Given the description of an element on the screen output the (x, y) to click on. 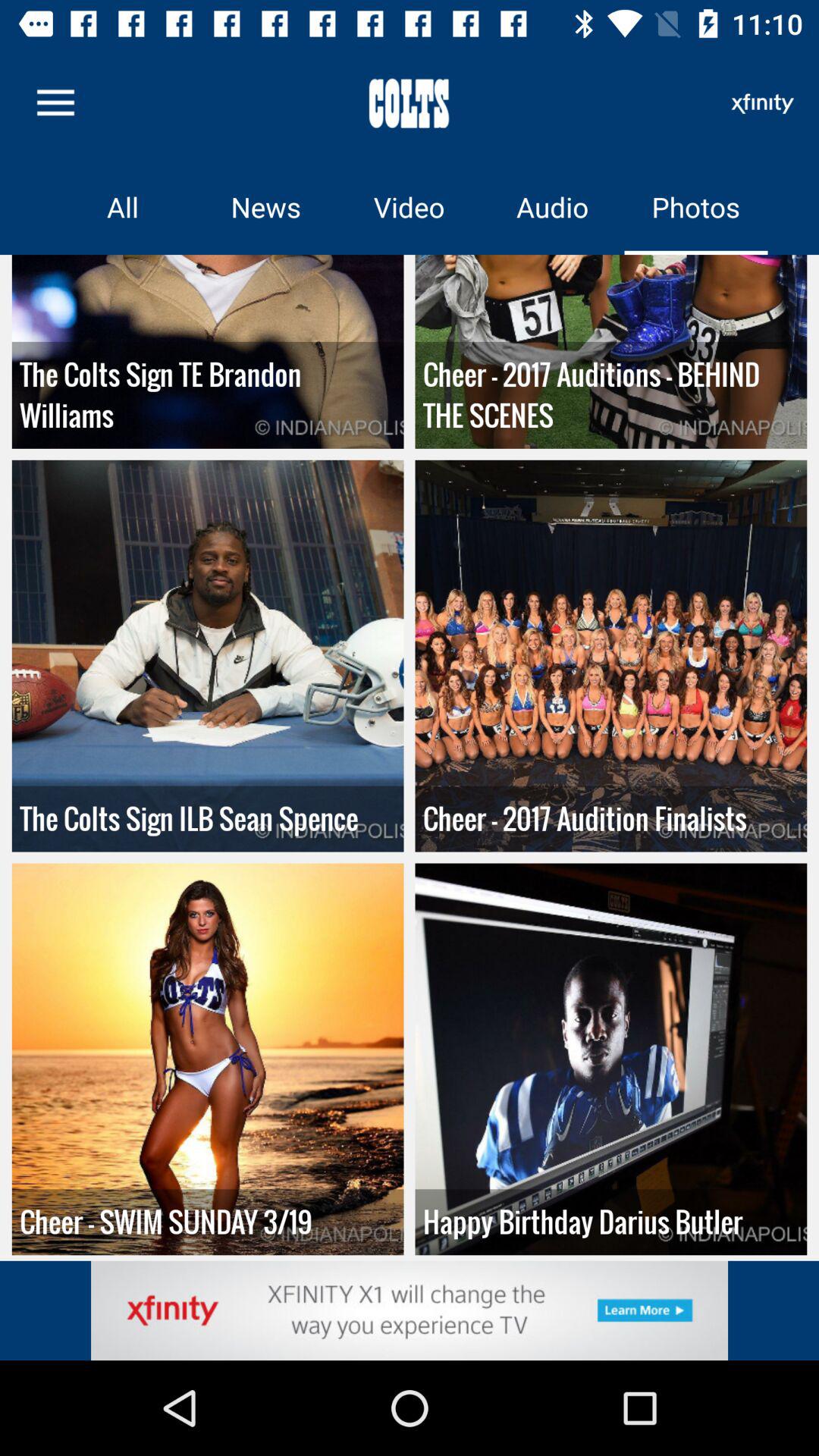
the first image in the page (208, 351)
click on the option having the text news (266, 206)
